Given the description of an element on the screen output the (x, y) to click on. 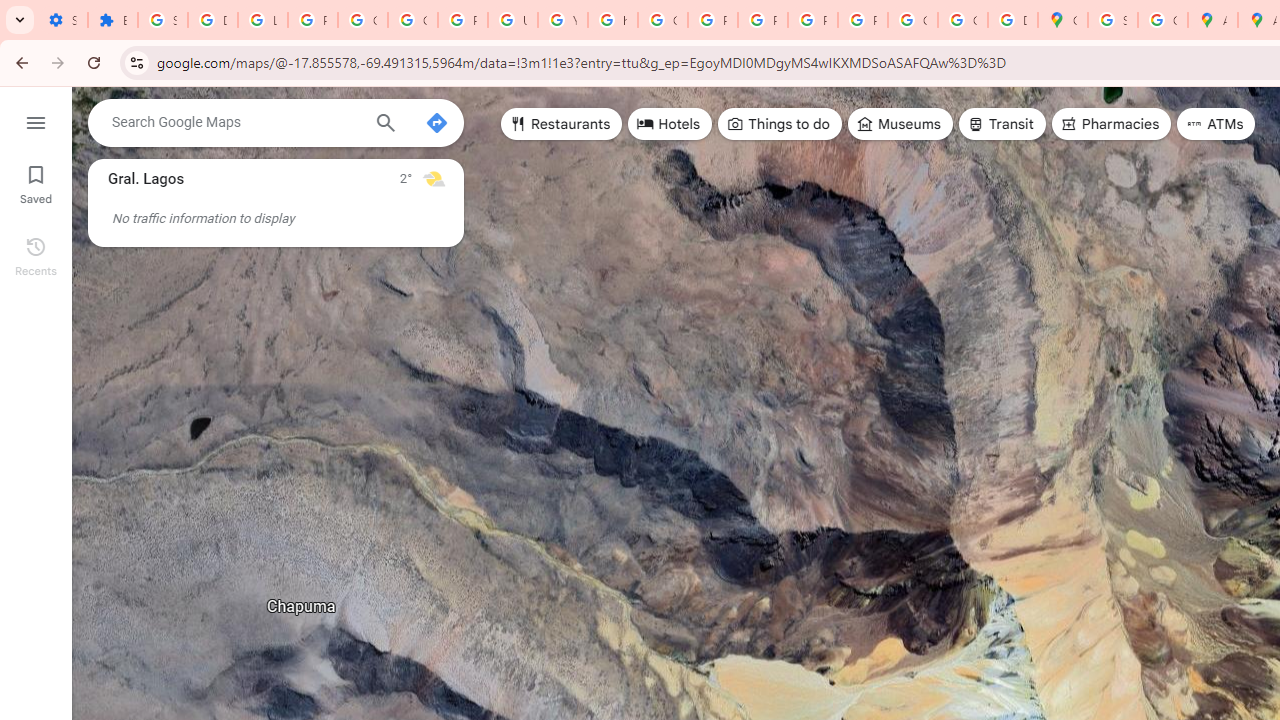
Google Maps (1062, 20)
Privacy Help Center - Policies Help (712, 20)
Sign in - Google Accounts (163, 20)
Sign in - Google Accounts (1112, 20)
Mostly cloudy (433, 178)
Google Account Help (362, 20)
Saved (35, 182)
Extensions (113, 20)
ATMs (1216, 124)
Things to do (780, 124)
https://scholar.google.com/ (612, 20)
